Given the description of an element on the screen output the (x, y) to click on. 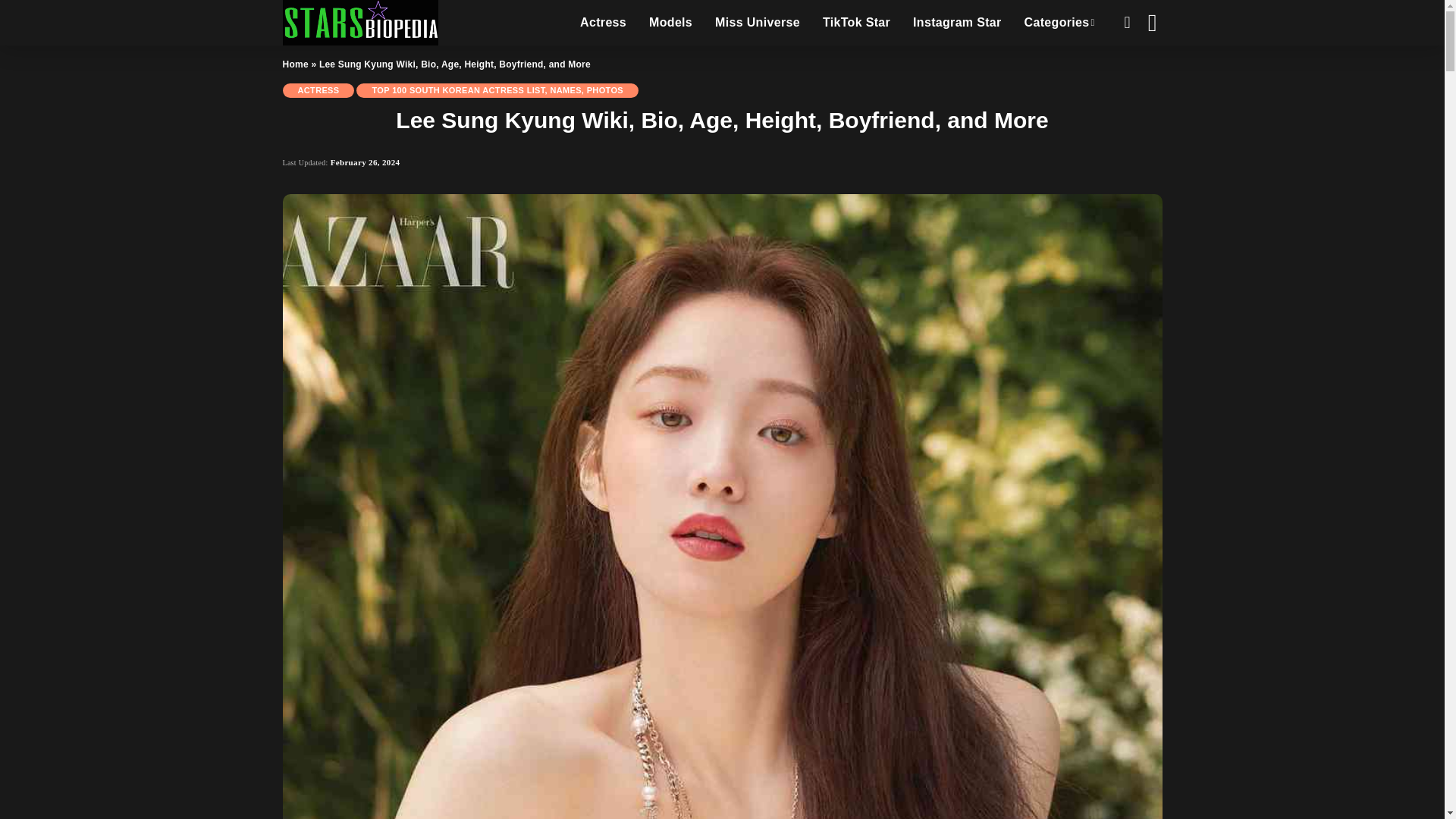
Categories (1059, 22)
TikTok Star (855, 22)
Miss Universe (756, 22)
Instagram Star (957, 22)
Actress (603, 22)
Starsbiopedia.com (360, 22)
Models (670, 22)
